Given the description of an element on the screen output the (x, y) to click on. 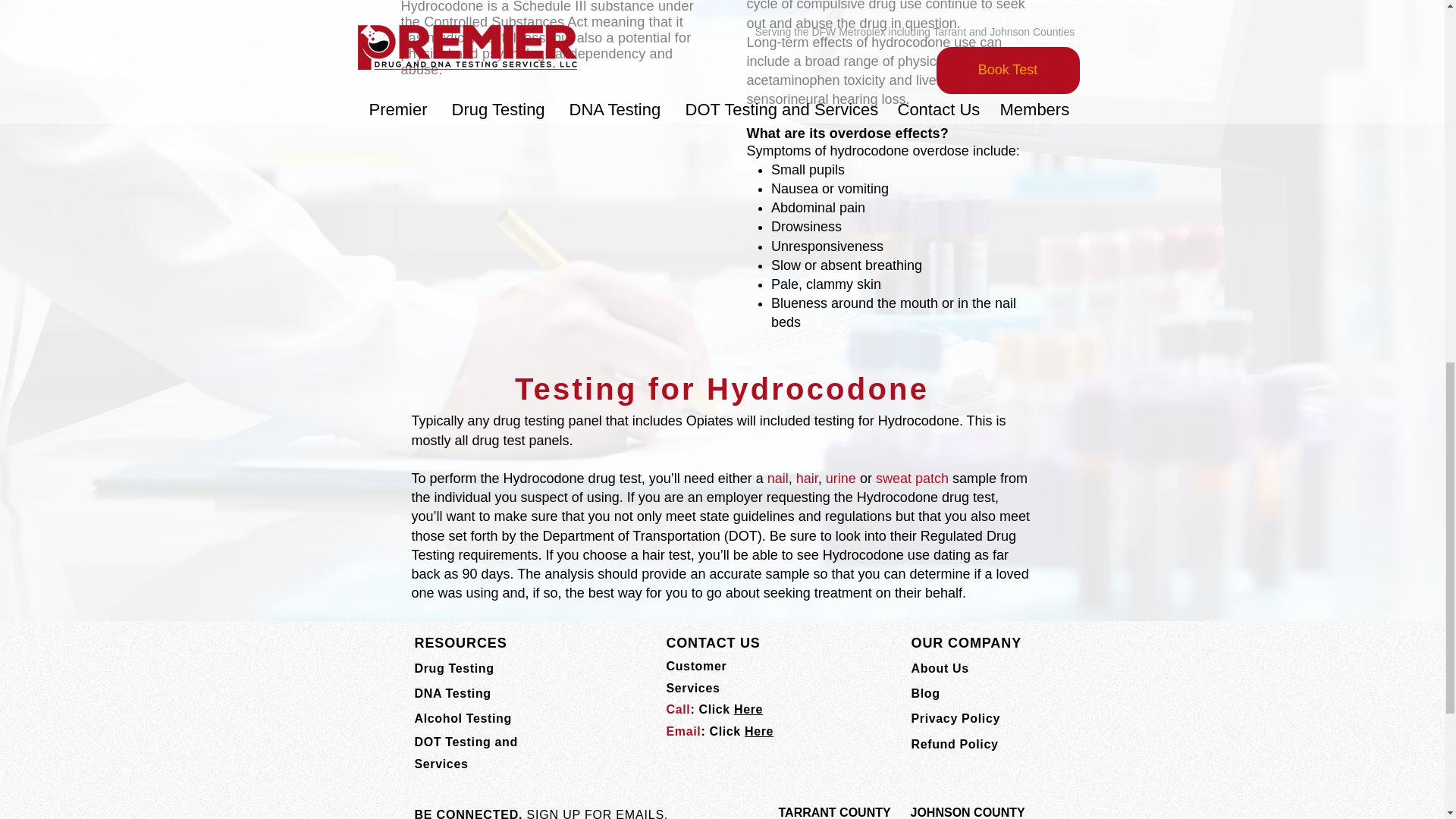
Drug Testing (453, 667)
Refund Policy (954, 744)
Customer Services (695, 677)
DOT Testing and (464, 741)
Email: Click Here (719, 730)
Blog (925, 693)
DNA Testing (451, 693)
Privacy Policy (955, 717)
Call: Click Here (713, 708)
About Us (940, 667)
Alcohol Testing (462, 717)
CONTACT US (712, 642)
